Given the description of an element on the screen output the (x, y) to click on. 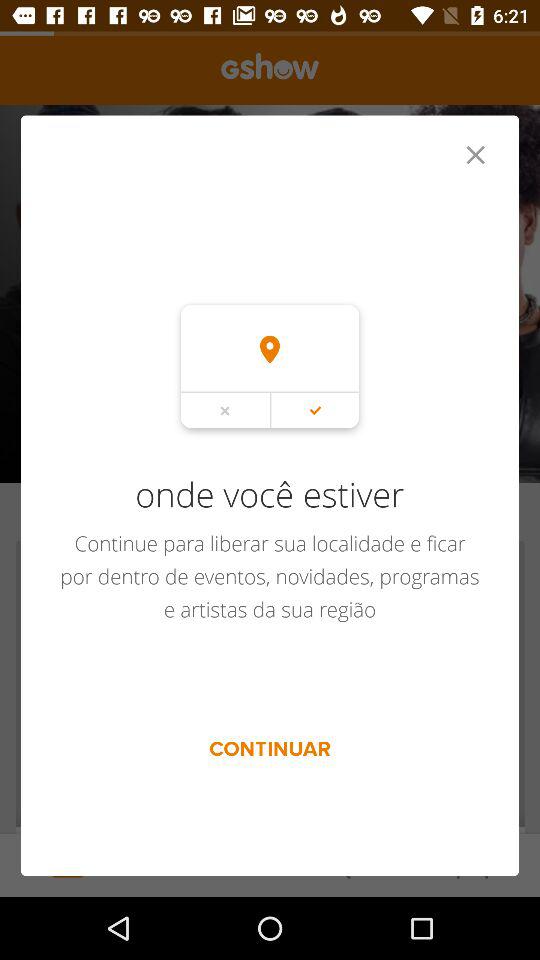
turn on item at the bottom (269, 748)
